Given the description of an element on the screen output the (x, y) to click on. 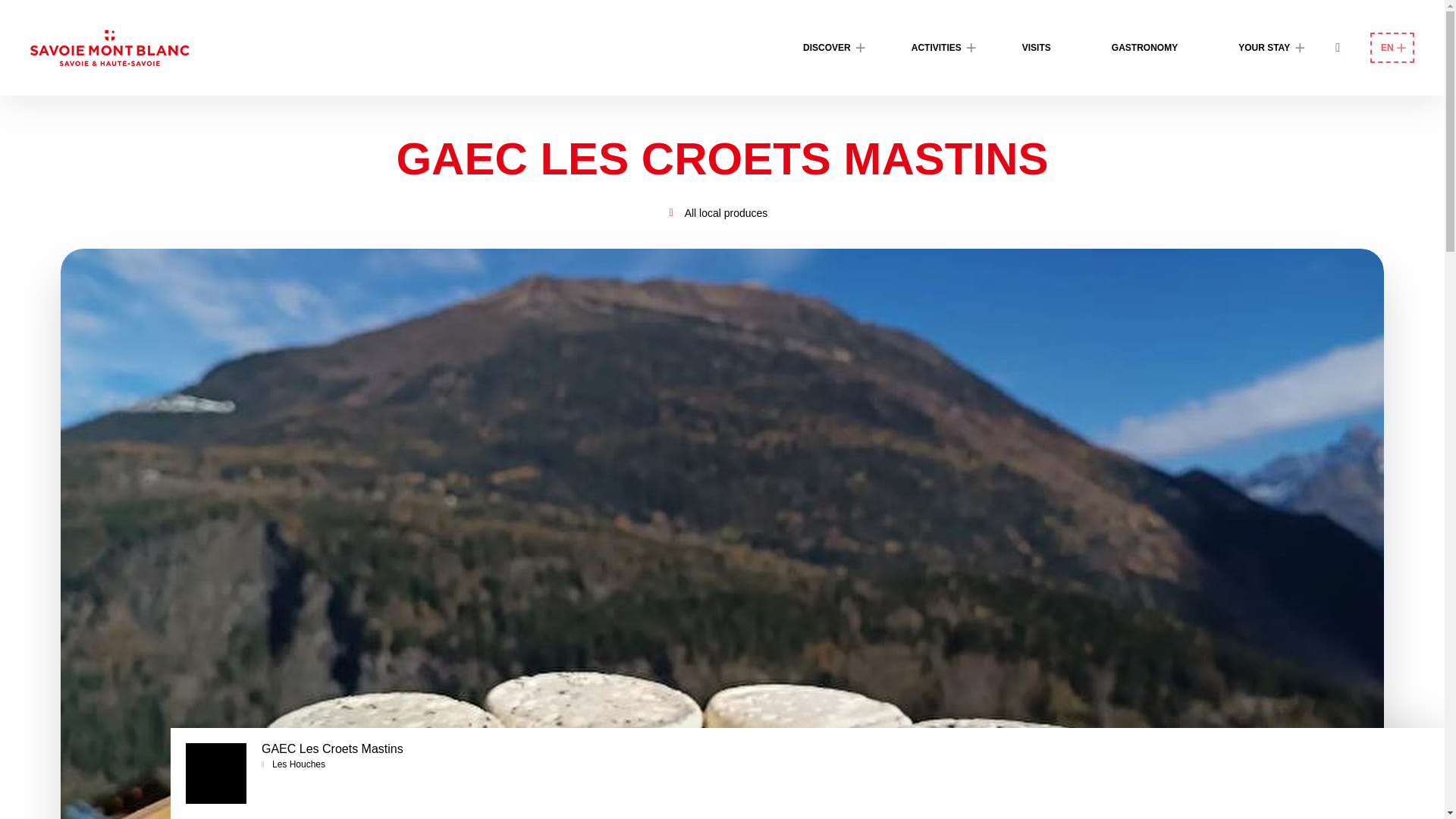
VISITS (1036, 47)
Home page of the website of Savoie Mont Blanc (109, 47)
YOUR STAY (1263, 47)
GASTRONOMY (1144, 47)
DISCOVER (826, 47)
All local produces (726, 213)
ACTIVITIES (936, 47)
